Given the description of an element on the screen output the (x, y) to click on. 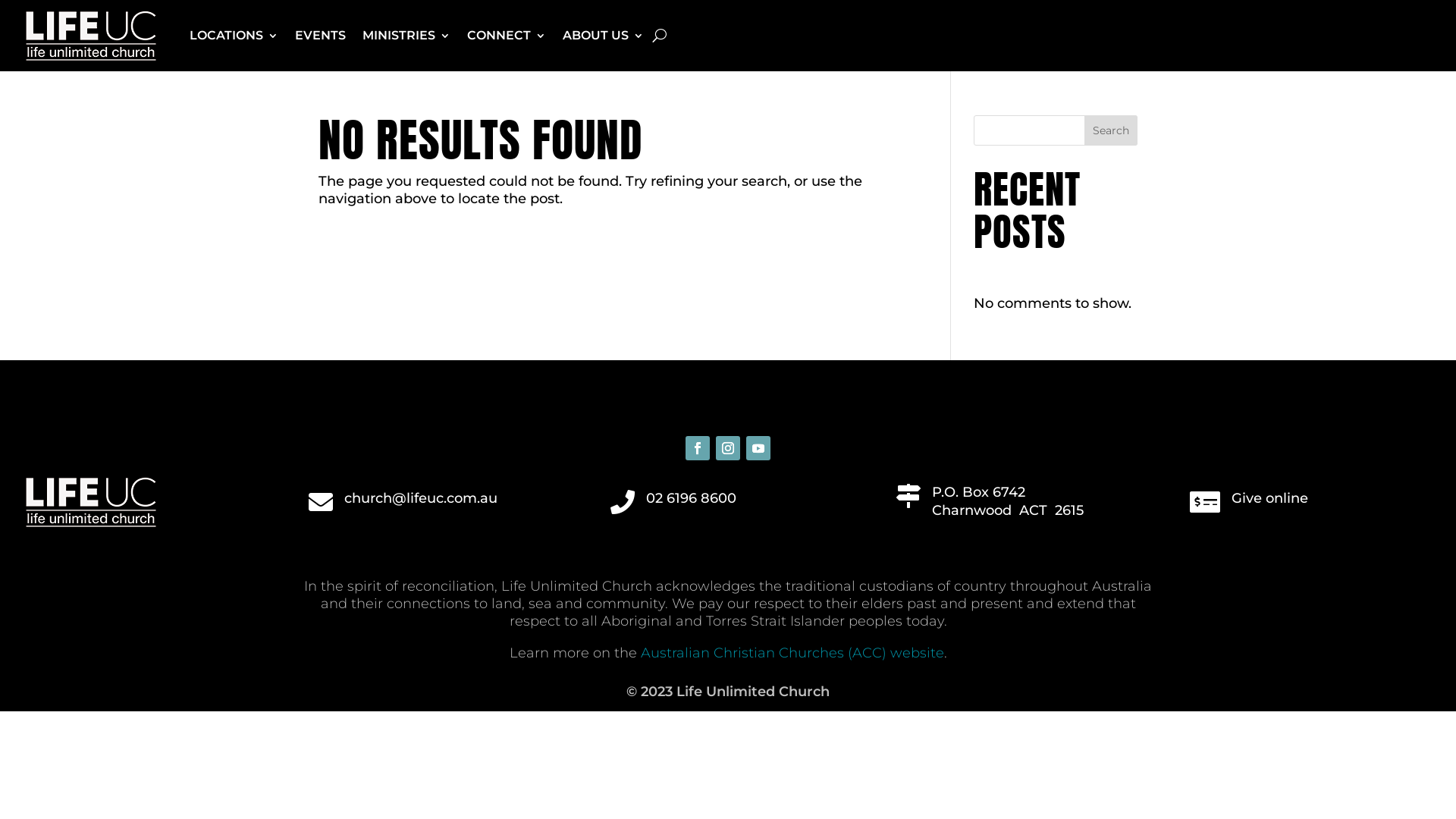
Follow on Youtube Element type: hover (758, 448)
Search Element type: text (1110, 130)
ABOUT US Element type: text (602, 35)
Follow on Instagram Element type: hover (727, 448)
Australian Christian Churches (ACC) website Element type: text (791, 652)
Follow on Facebook Element type: hover (697, 448)
LOCATIONS Element type: text (233, 35)
MINISTRIES Element type: text (406, 35)
CONNECT Element type: text (506, 35)
LIFE-UC-WHITE-in-black-box-200x94 Element type: hover (90, 501)
EVENTS Element type: text (319, 35)
